Given the description of an element on the screen output the (x, y) to click on. 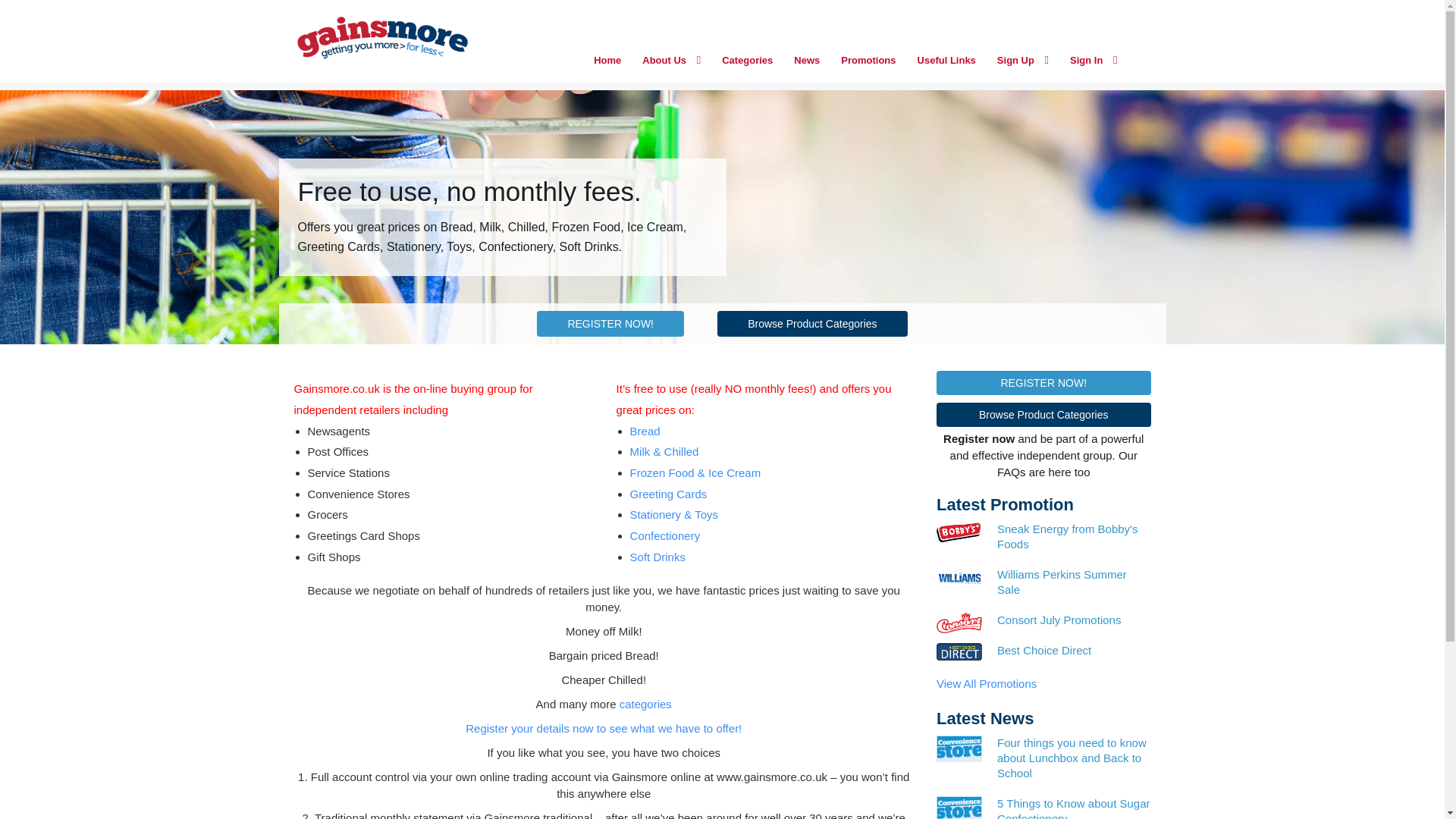
News (806, 60)
Sign Up (1023, 60)
Best Choice Direct (1074, 650)
Confectionery (665, 535)
Sign In (1092, 60)
Williams Perkins Summer Sale (1074, 582)
Browse Product Categories (1043, 414)
Browse Product Categories (812, 323)
View All Promotions (986, 683)
Soft Drinks (657, 556)
Promotions (867, 60)
About Us (671, 60)
Bread (645, 431)
Home (607, 60)
